Given the description of an element on the screen output the (x, y) to click on. 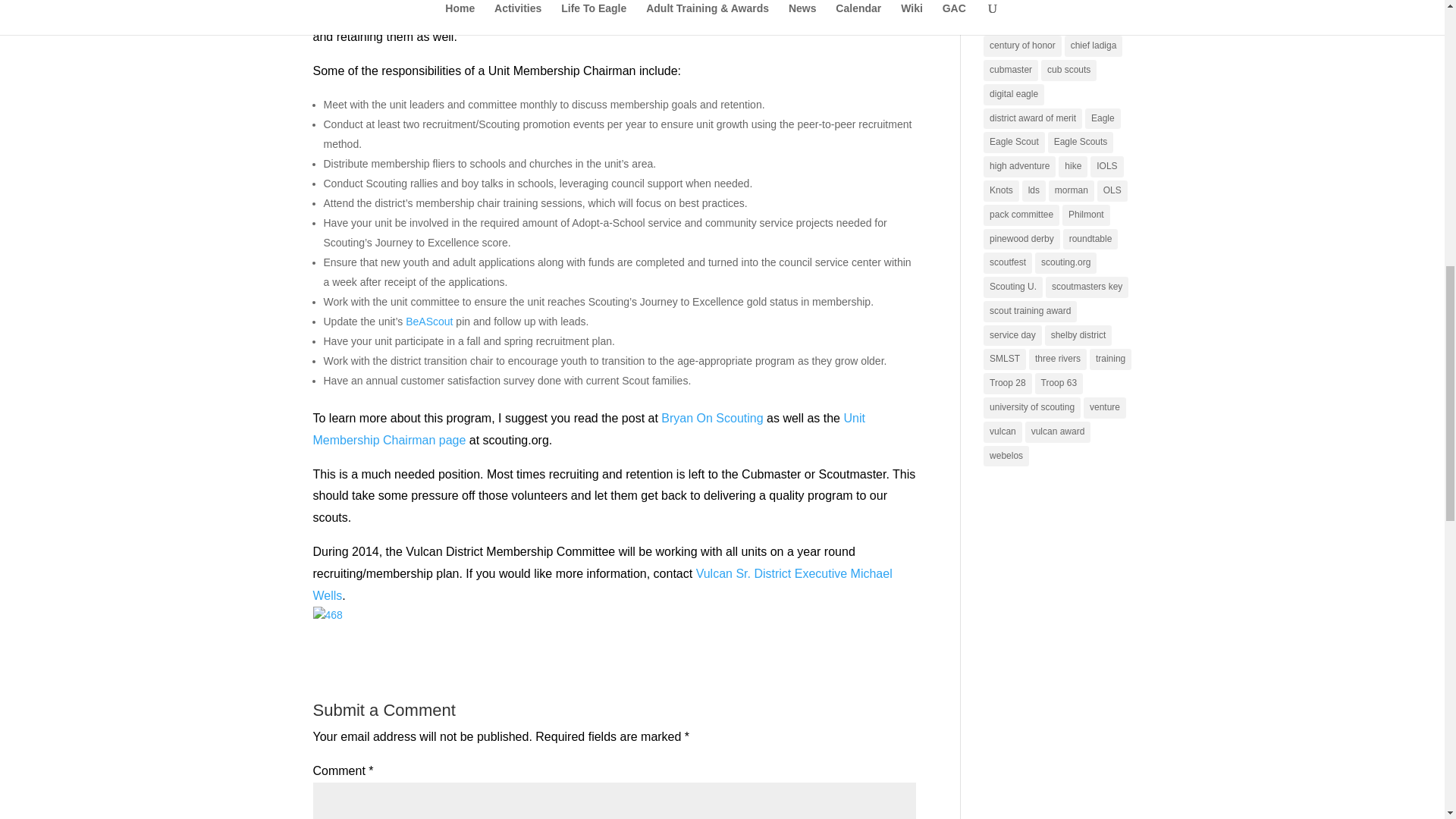
Unit Membership Chairman page (588, 428)
Vulcan District Executive (602, 584)
Bryan On Scouting (711, 418)
BeAScout (429, 321)
Vulcan Sr. District Executive Michael Wells (602, 584)
